Given the description of an element on the screen output the (x, y) to click on. 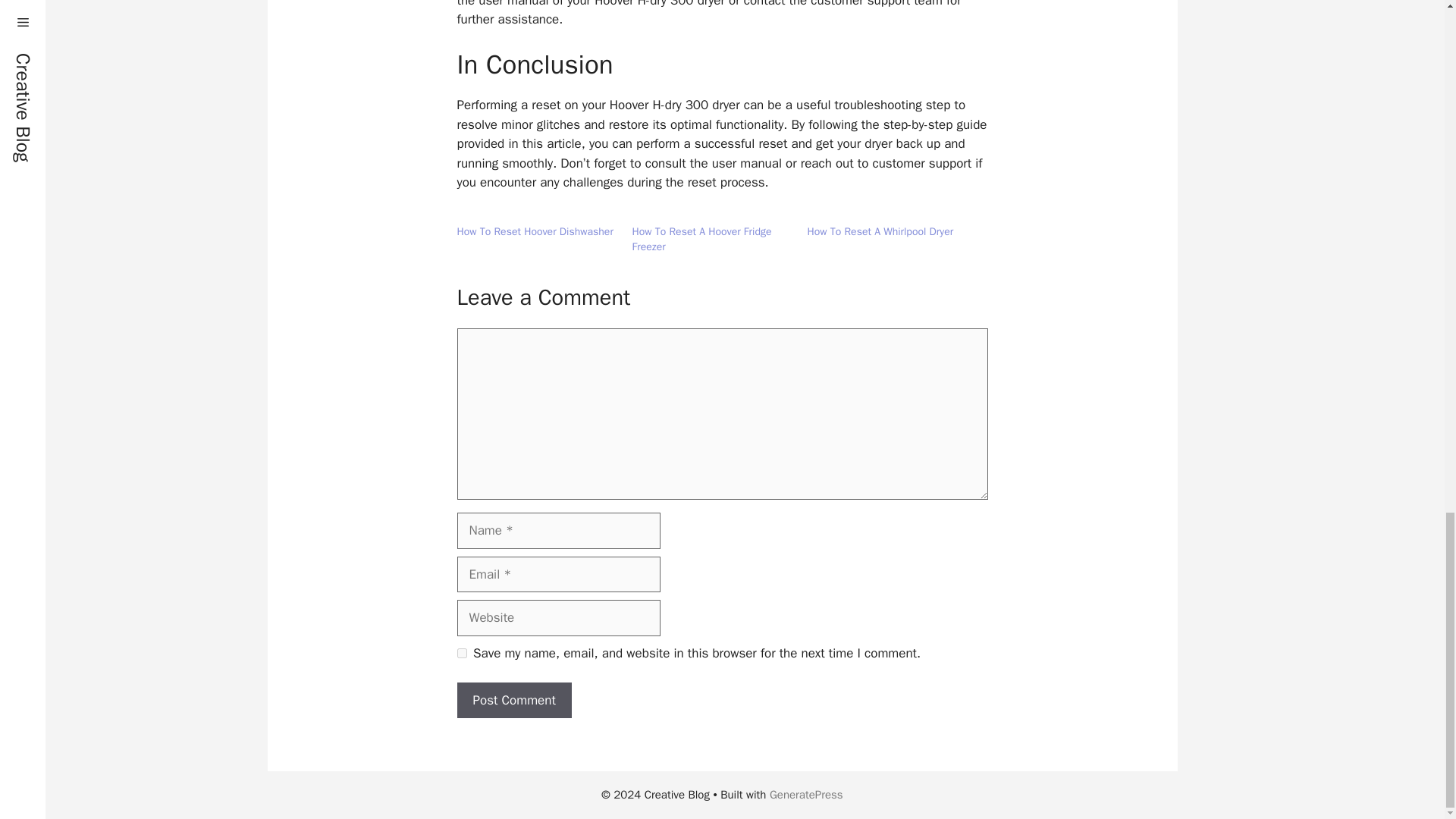
How To Reset A Hoover Fridge Freezer (701, 239)
How To Reset A Whirlpool Dryer (879, 231)
How To Reset A Hoover Fridge Freezer (701, 239)
How To Reset Hoover Dishwasher (534, 231)
How To Reset A Whirlpool Dryer (879, 231)
How To Reset Hoover Dishwasher (534, 231)
yes (461, 653)
GeneratePress (806, 794)
Post Comment (513, 700)
Post Comment (513, 700)
